Given the description of an element on the screen output the (x, y) to click on. 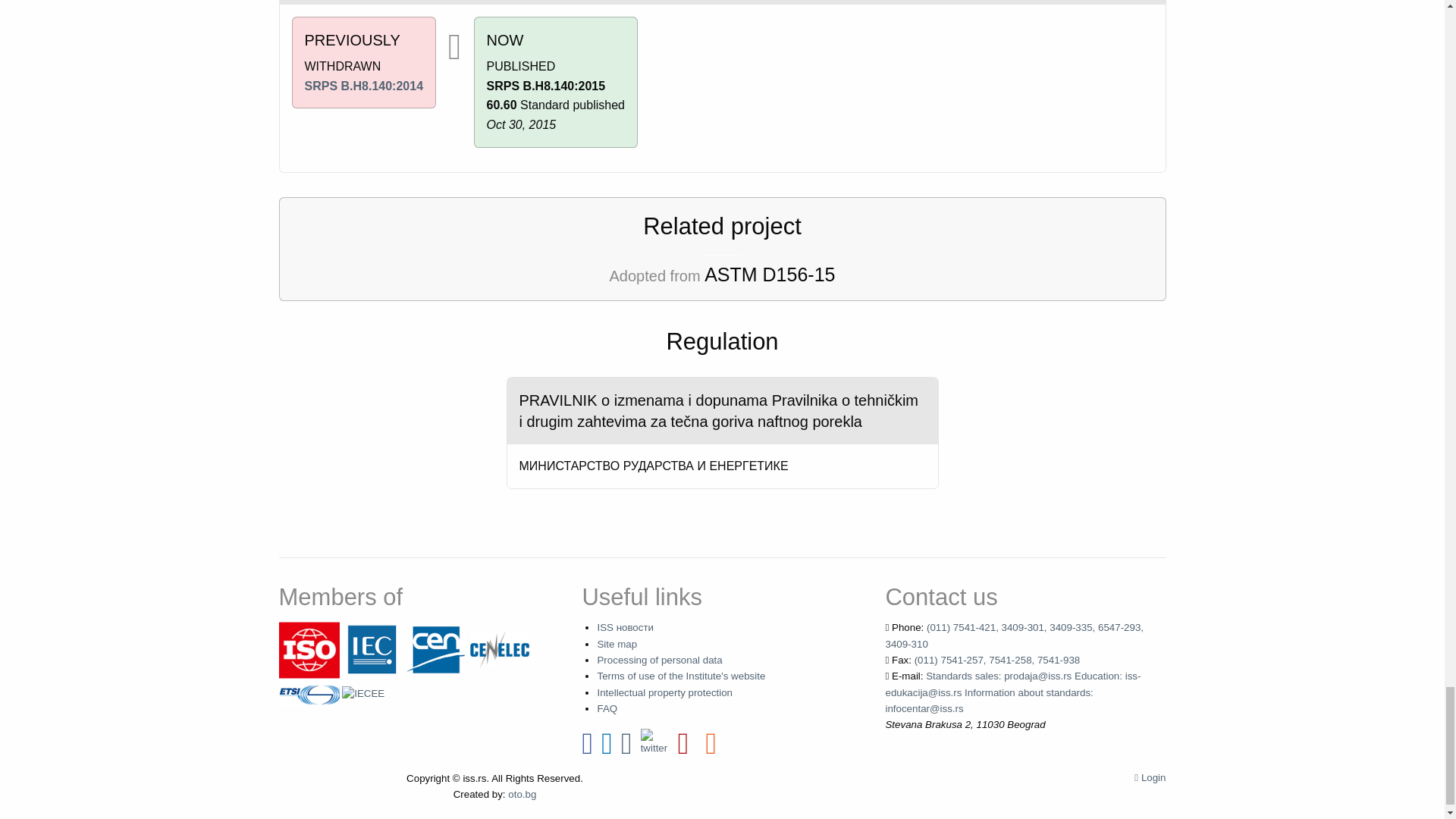
IECEE (363, 692)
ISO (309, 649)
IEC (372, 649)
ETSI (309, 692)
CEN (435, 649)
CENELEC (498, 649)
